Given the description of an element on the screen output the (x, y) to click on. 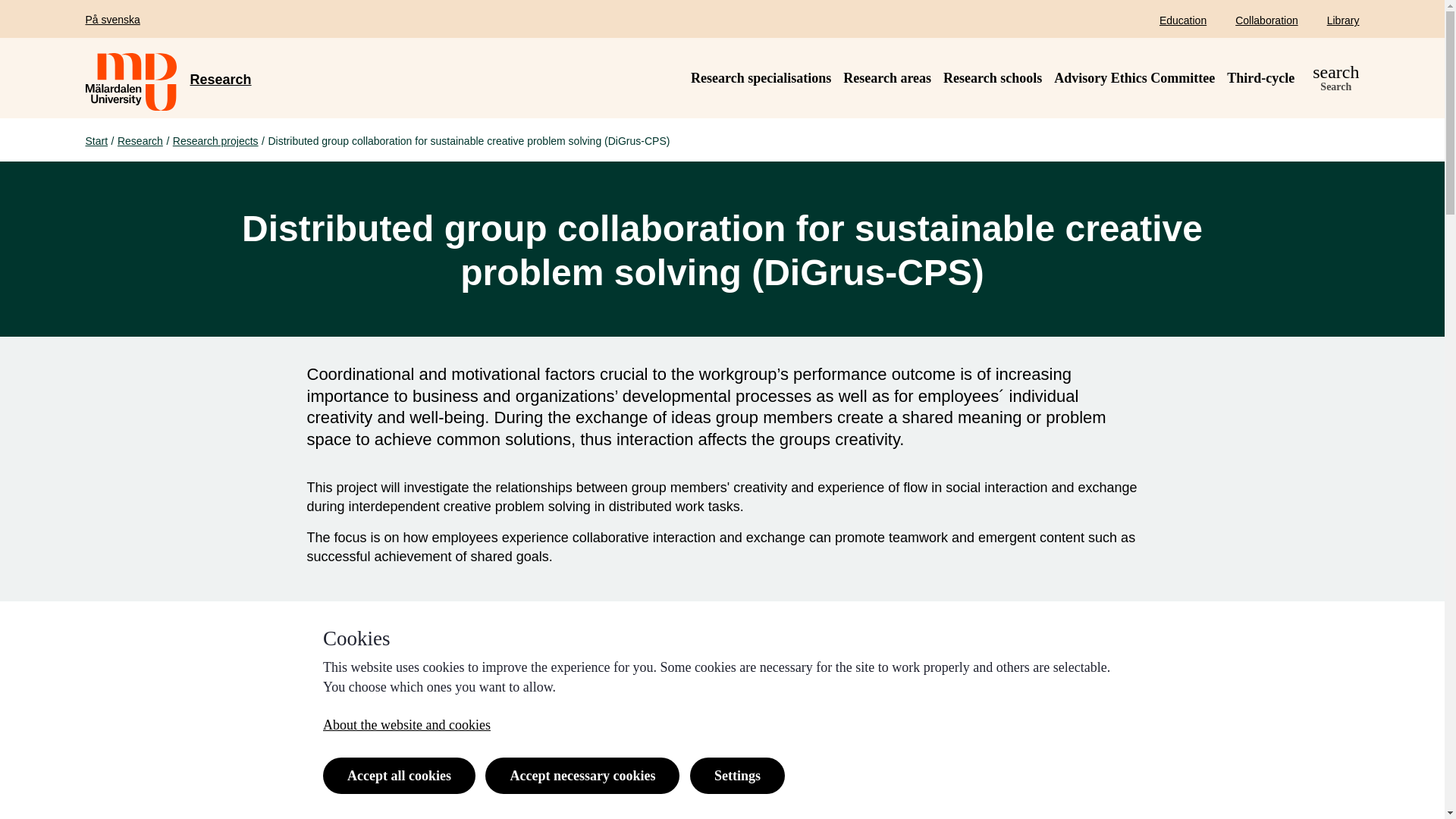
Advisory Ethics Committee (1134, 77)
About the website and cookies (406, 724)
Accept all cookies (399, 774)
Volvo Construction Equipment (697, 778)
Research (140, 141)
Education (1182, 20)
Research specialisations (760, 77)
Research (219, 79)
Research areas (887, 77)
Accept necessary cookies (581, 774)
